Given the description of an element on the screen output the (x, y) to click on. 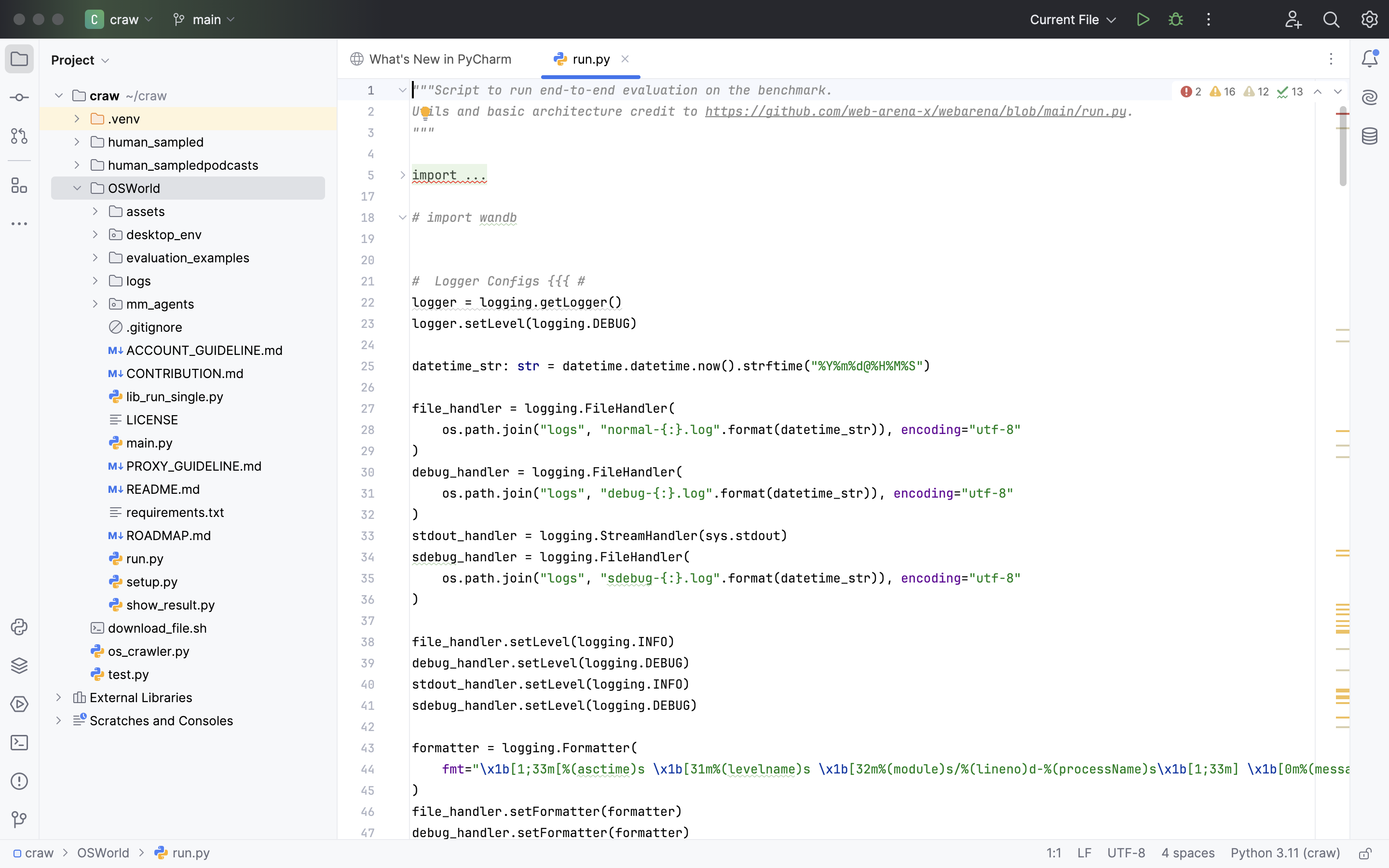
0 Element type: AXRadioButton (439, 59)
human_sampled Element type: AXStaticText (147, 141)
ROADMAP.md Element type: AXStaticText (160, 534)
requirements.txt Element type: AXStaticText (166, 511)
run.py Element type: AXStaticText (136, 557)
